Given the description of an element on the screen output the (x, y) to click on. 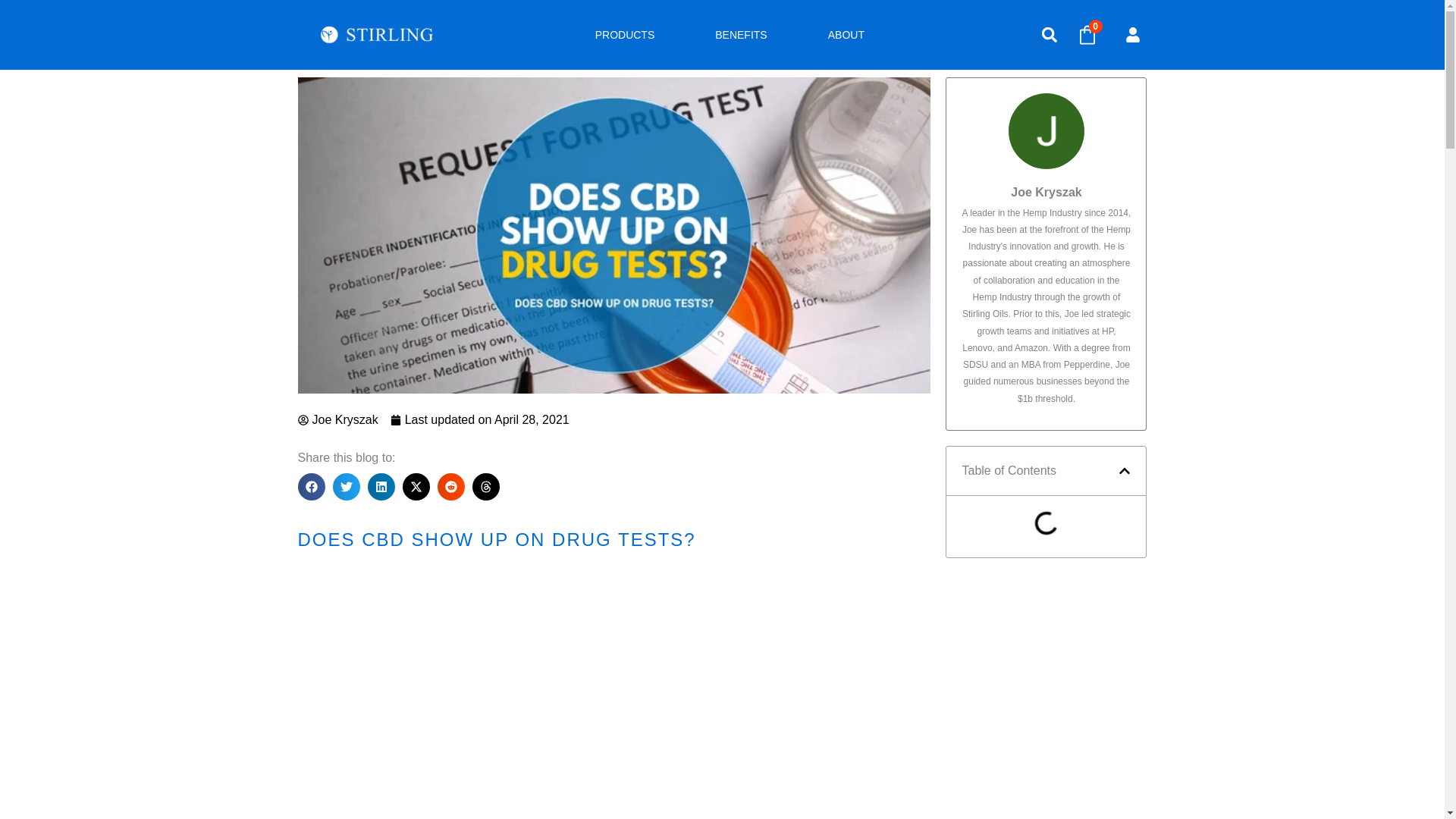
main logo stirling (376, 34)
PRODUCTS (639, 34)
BENEFITS (756, 34)
ABOUT (861, 34)
